Given the description of an element on the screen output the (x, y) to click on. 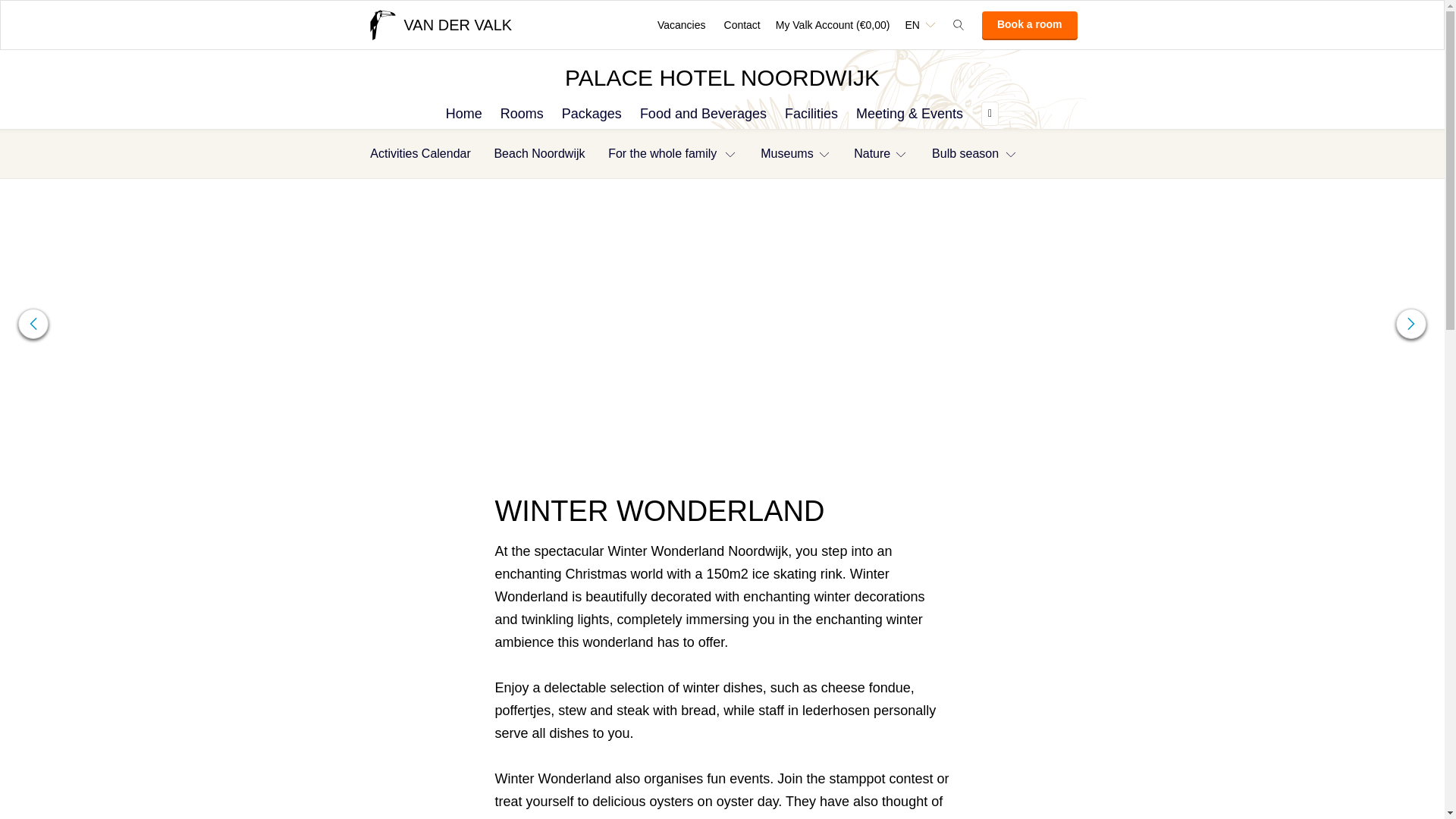
Packages (591, 113)
Food and Beverages (702, 113)
VAN DER VALK (439, 24)
Book a room (1029, 24)
Facilities (811, 113)
Home (463, 113)
Contact (742, 24)
EN (919, 24)
Rooms (522, 113)
Vacancies (680, 24)
